Given the description of an element on the screen output the (x, y) to click on. 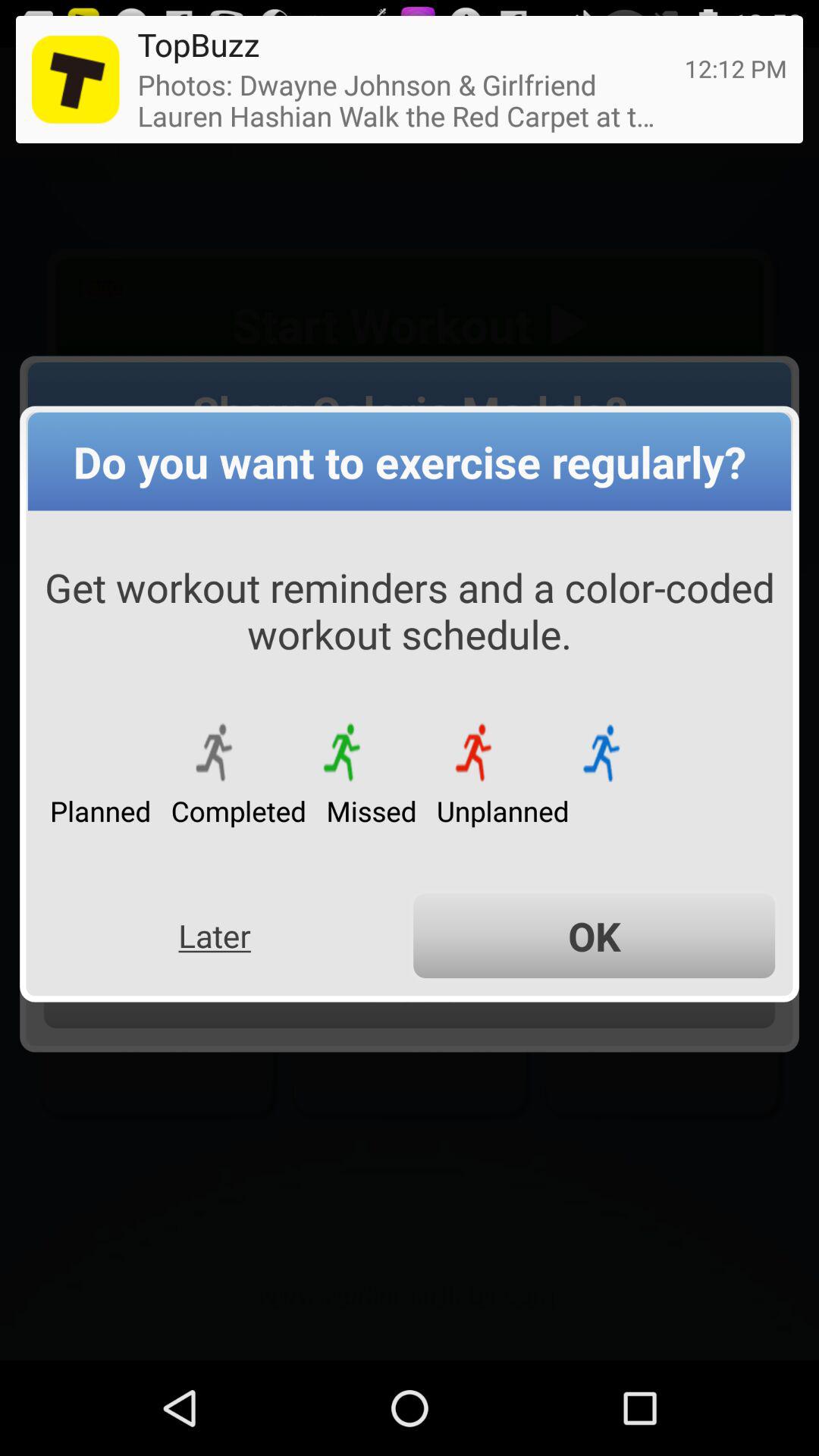
choose item below the missed app (594, 935)
